Given the description of an element on the screen output the (x, y) to click on. 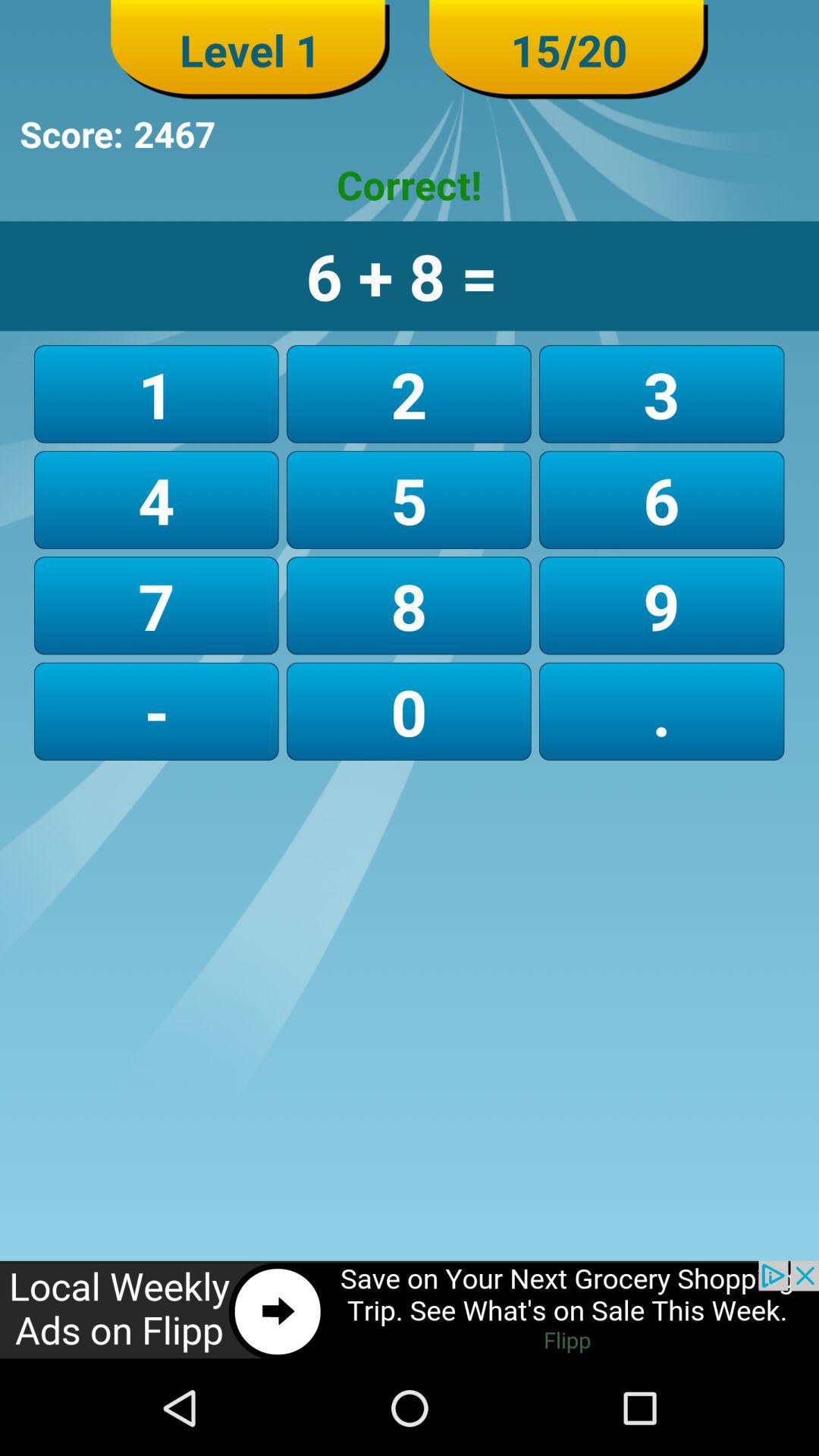
turn off button next to the 2 icon (661, 394)
